Given the description of an element on the screen output the (x, y) to click on. 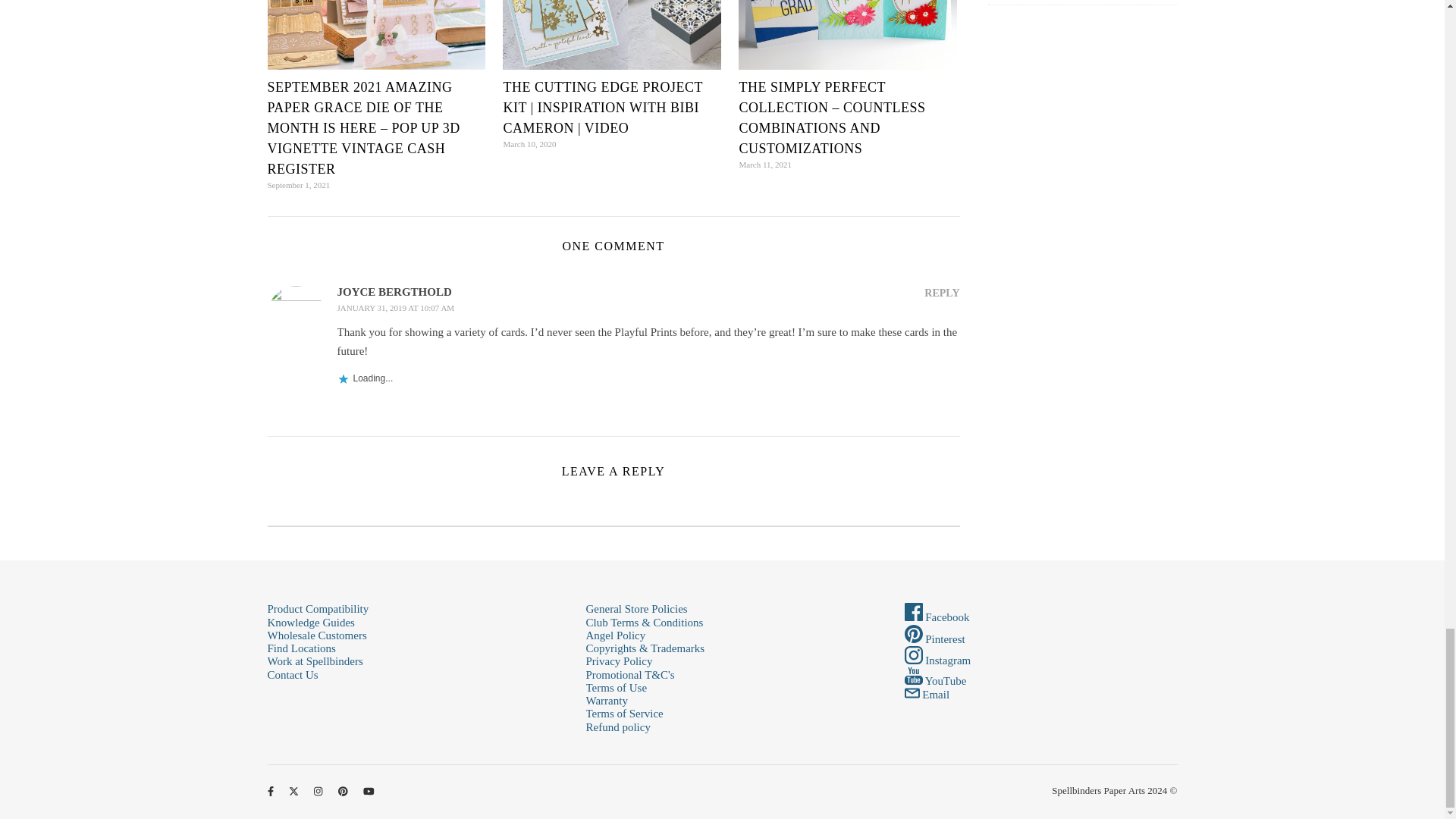
YouTube (935, 680)
Pinterest (933, 639)
Instagram (937, 660)
Email (926, 694)
Facebook (936, 616)
